Given the description of an element on the screen output the (x, y) to click on. 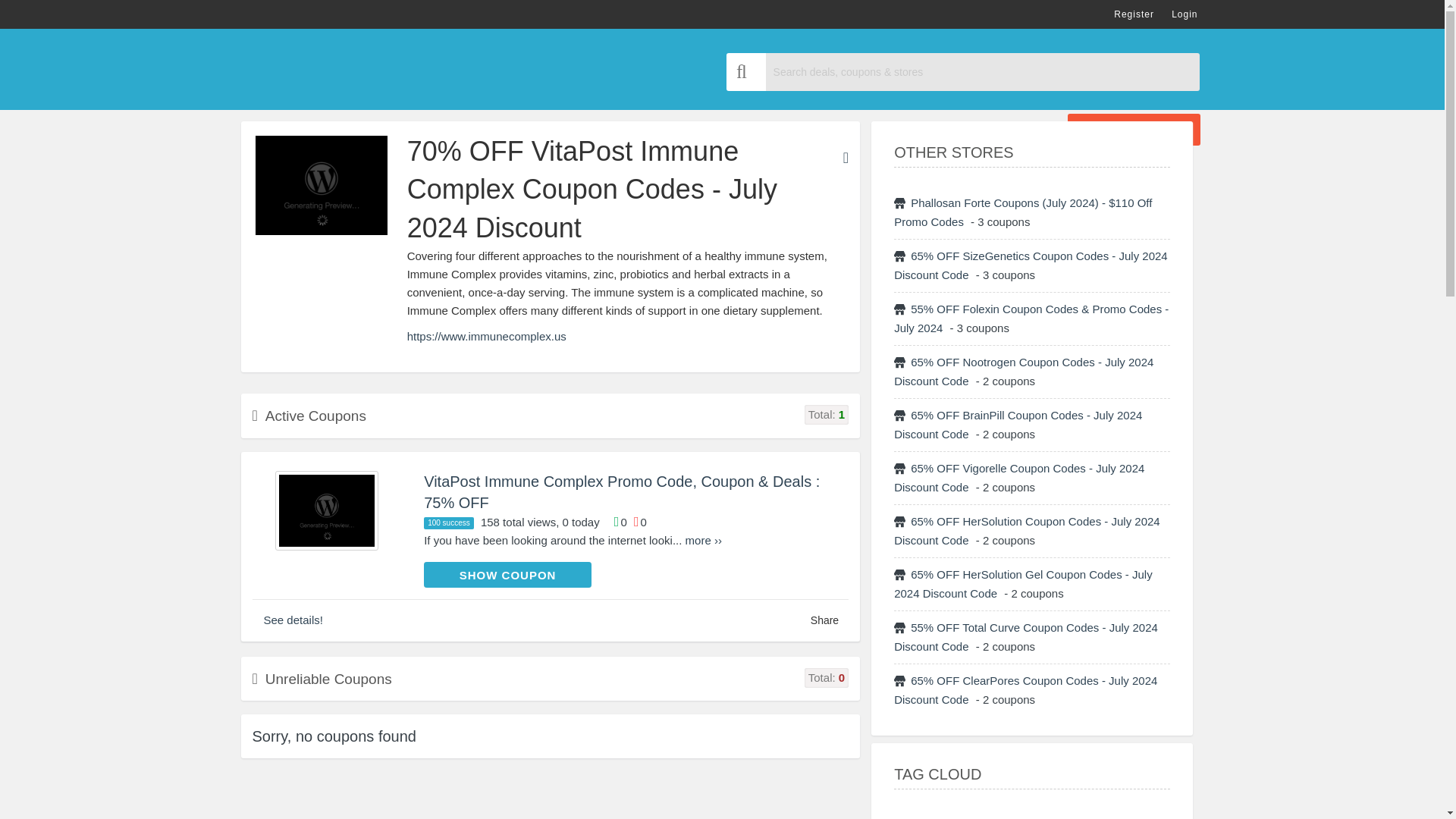
See details! (293, 619)
SHARE A COUPON (1133, 129)
Login (1185, 14)
SHOW COUPON (507, 574)
Search (745, 71)
Register (1134, 14)
